Given the description of an element on the screen output the (x, y) to click on. 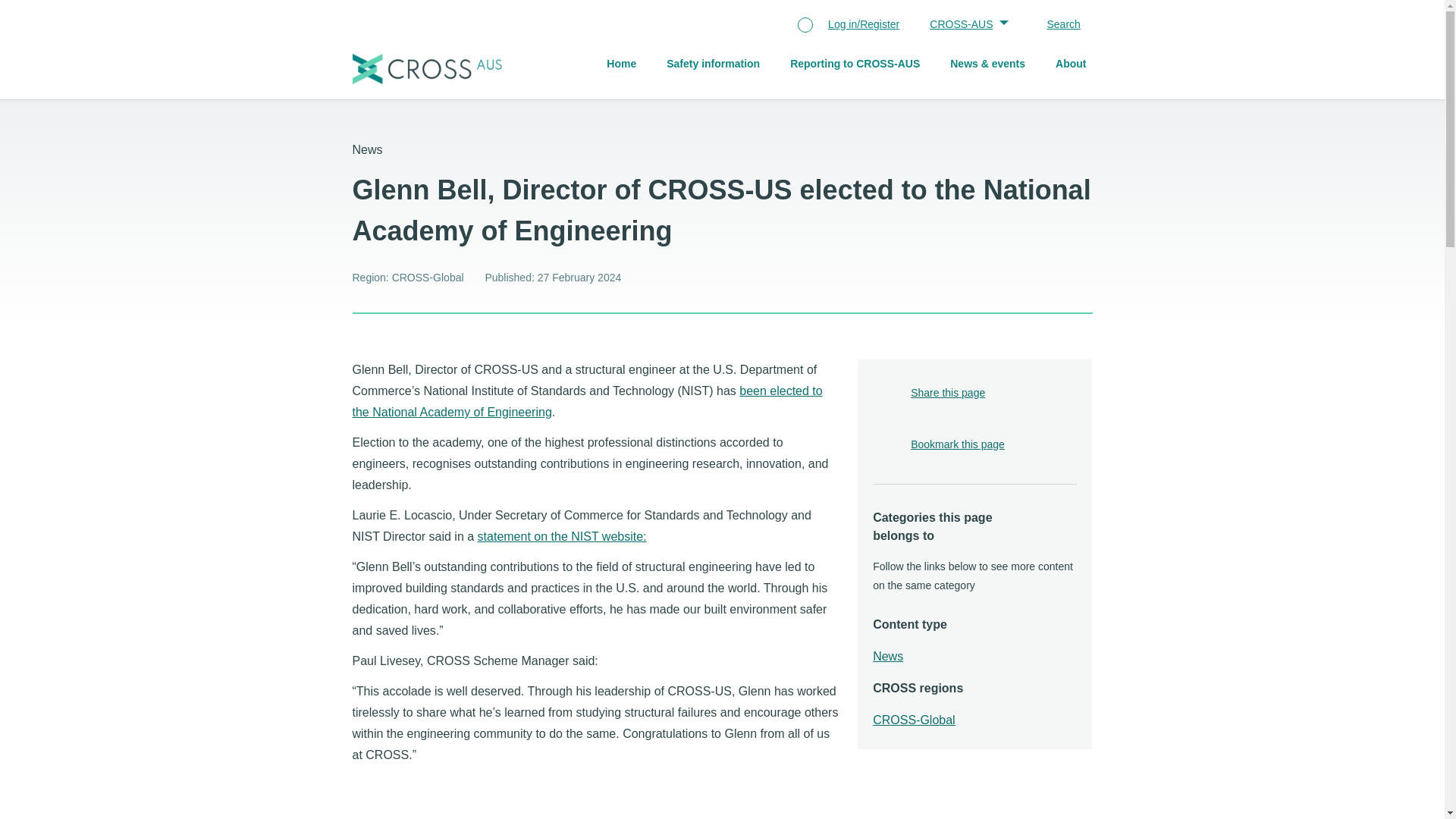
been elected to the National Academy of Engineering (587, 402)
National Academy of Engineering (587, 402)
Bookmark this page (957, 445)
News (887, 657)
Main menu (799, 65)
NIST (561, 537)
CROSS-AUS (965, 25)
Search (1056, 25)
About (1070, 65)
CROSS-Global (913, 720)
